Given the description of an element on the screen output the (x, y) to click on. 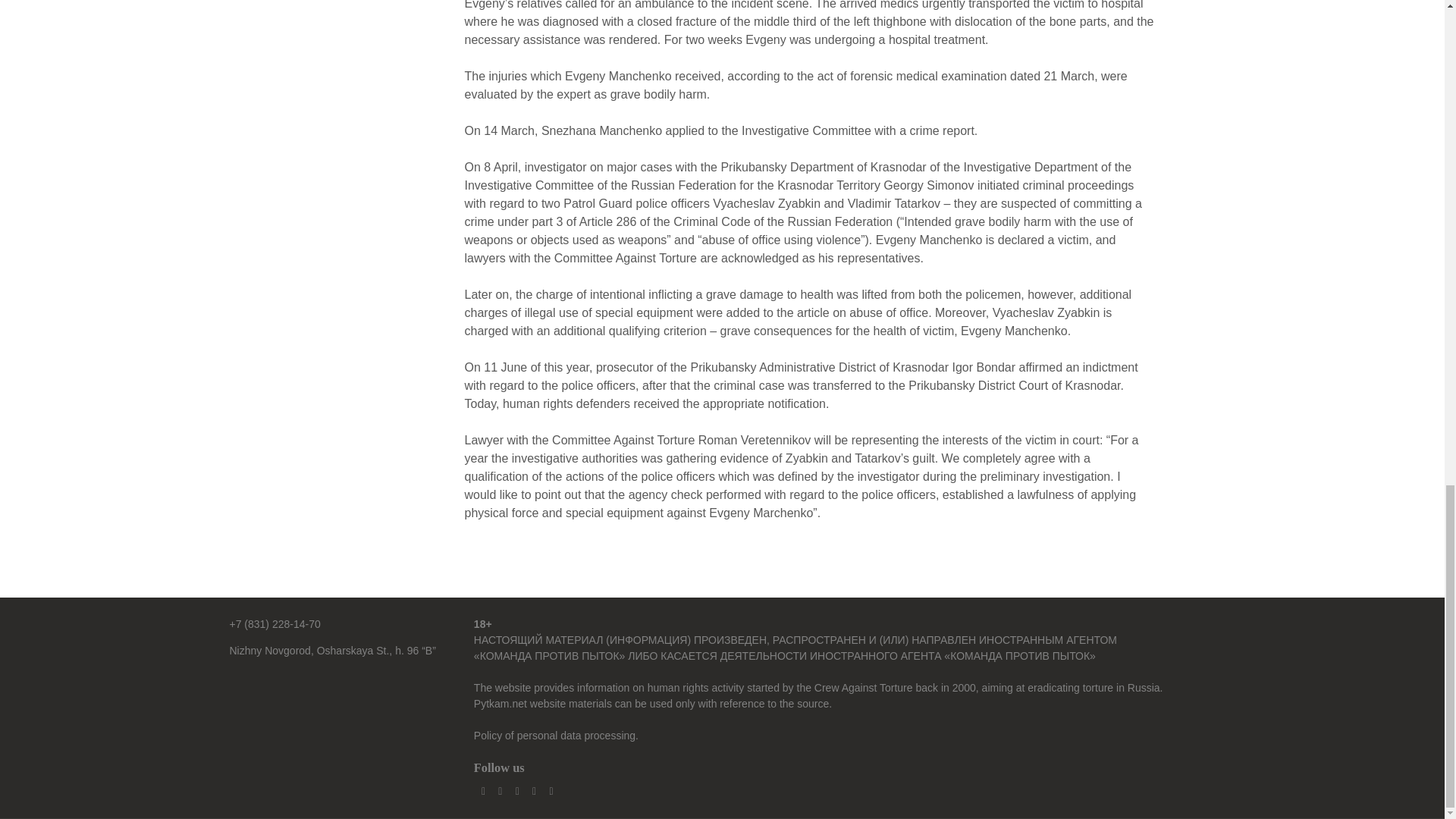
data processing. (599, 735)
Pytkam.net (500, 703)
